Given the description of an element on the screen output the (x, y) to click on. 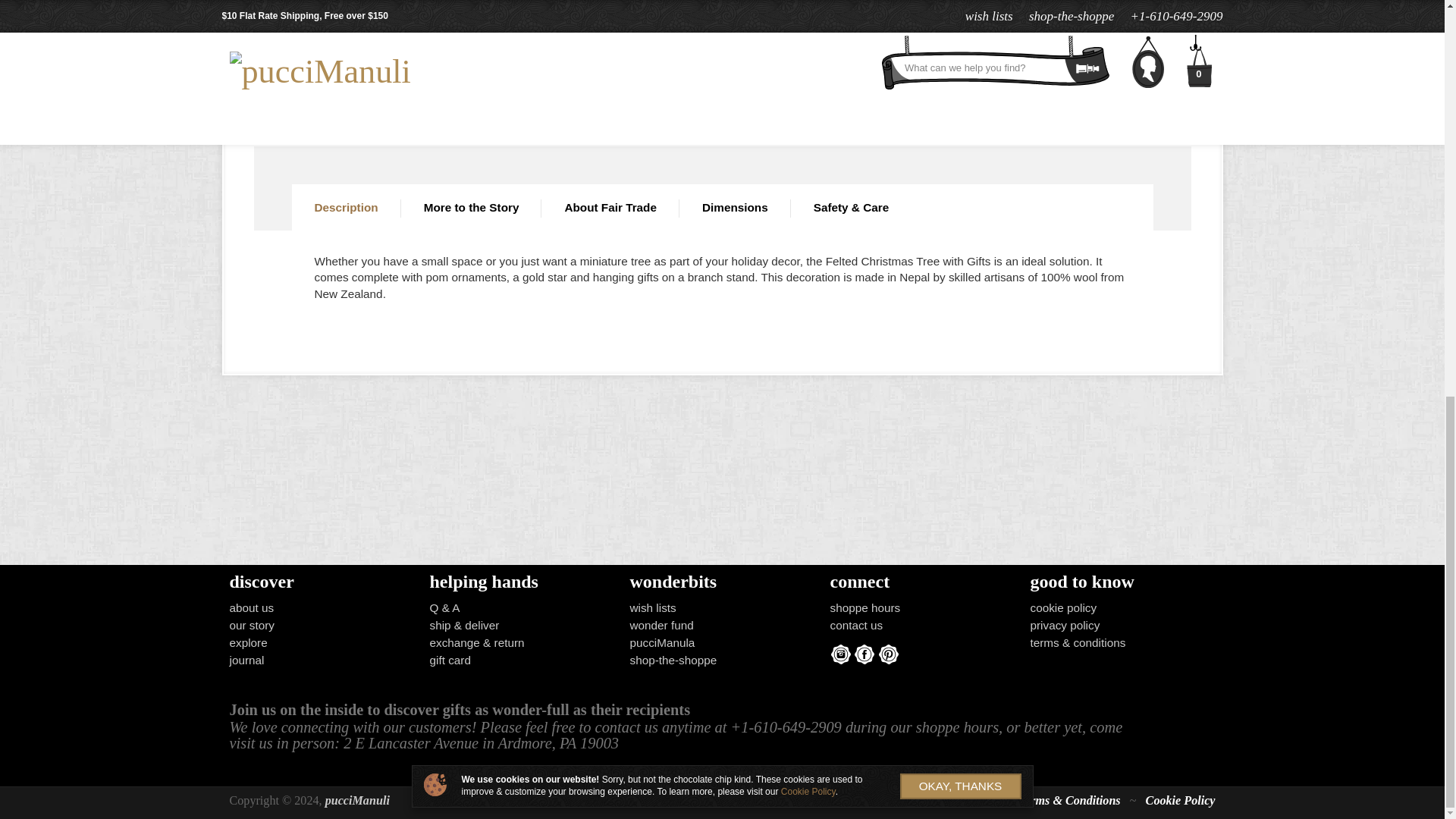
pucciManuli on Facebook (864, 654)
pucciManuli on Instagram (840, 654)
pucciManuli on Pinterest (888, 654)
